Given the description of an element on the screen output the (x, y) to click on. 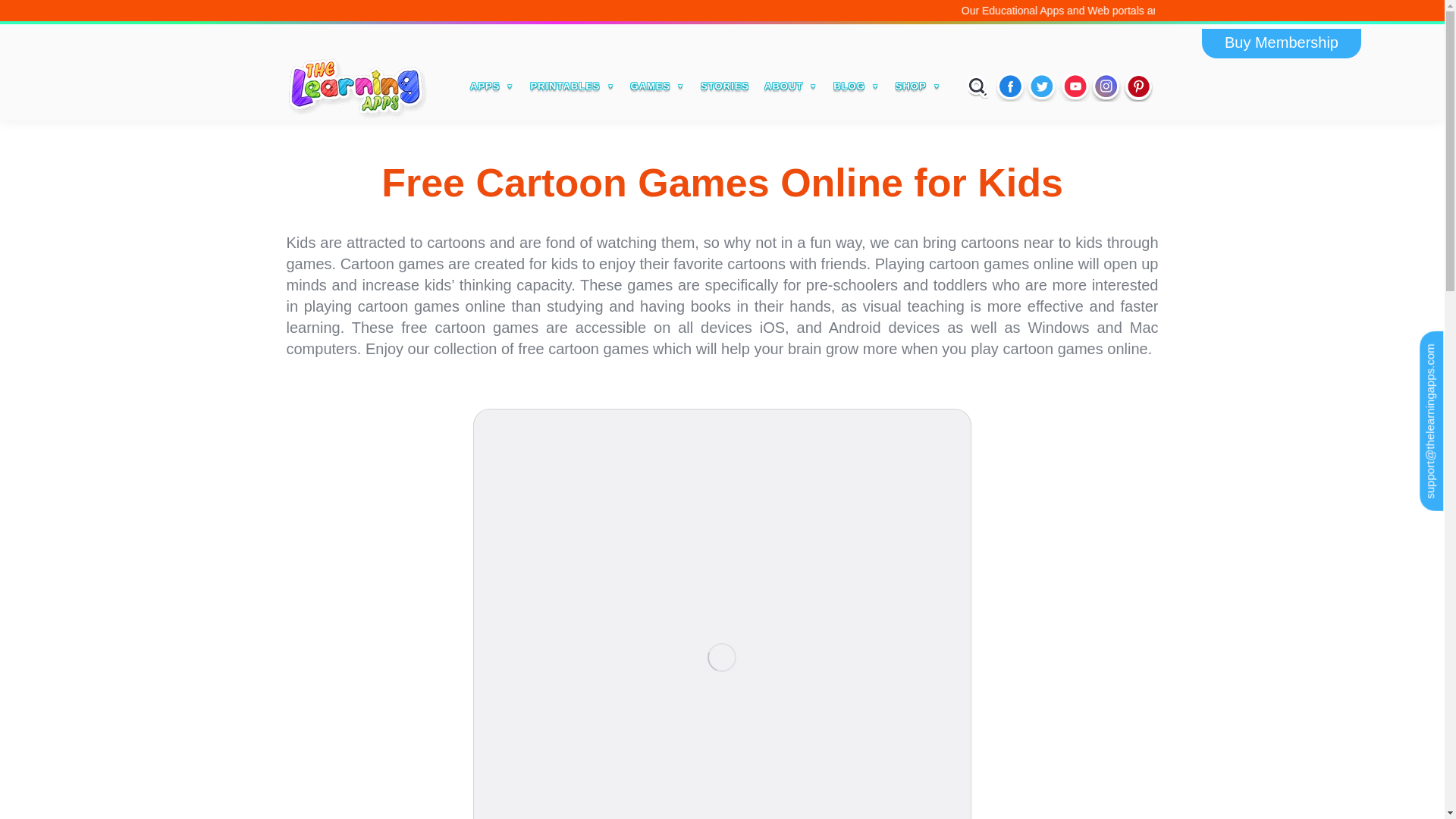
PRINTABLES (572, 86)
APPS (492, 86)
Buy Membership (1281, 43)
